Given the description of an element on the screen output the (x, y) to click on. 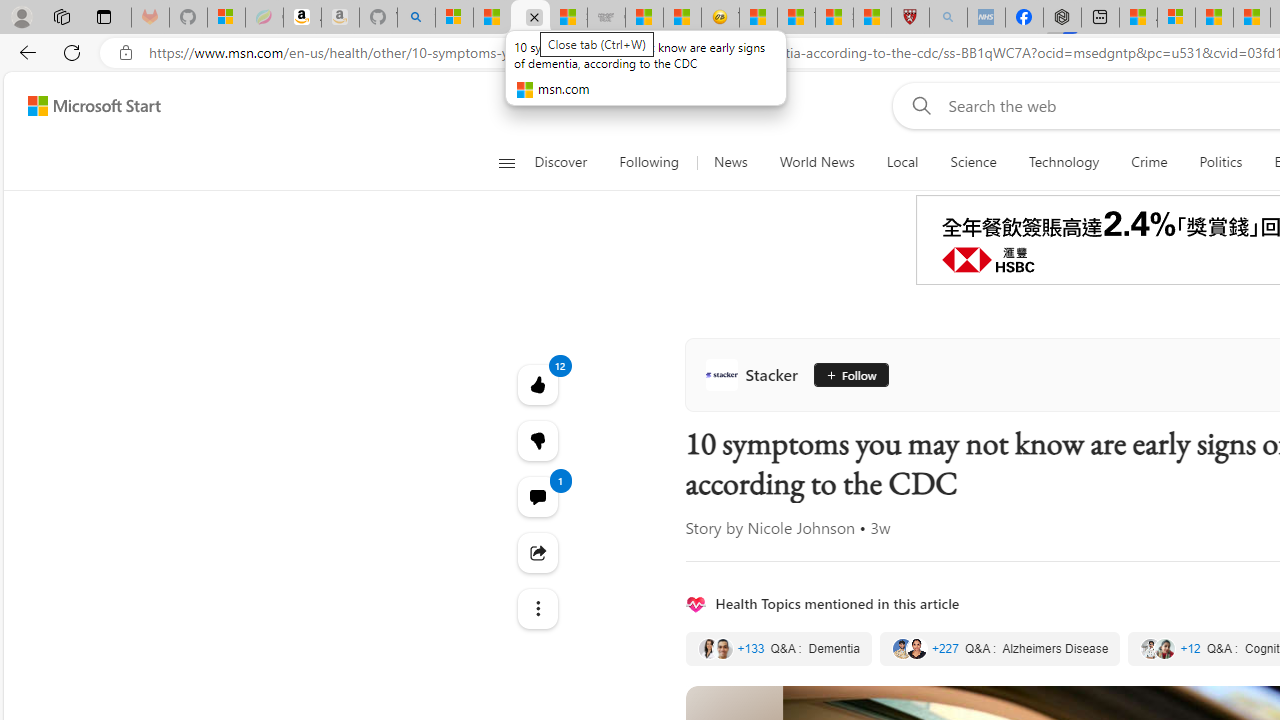
Alzheimers Disease (1000, 649)
World News (816, 162)
Following (648, 162)
Share this story (537, 552)
Crime (1149, 162)
12 (537, 440)
12 Like (537, 384)
Class: button-glyph (505, 162)
Politics (1220, 162)
